Given the description of an element on the screen output the (x, y) to click on. 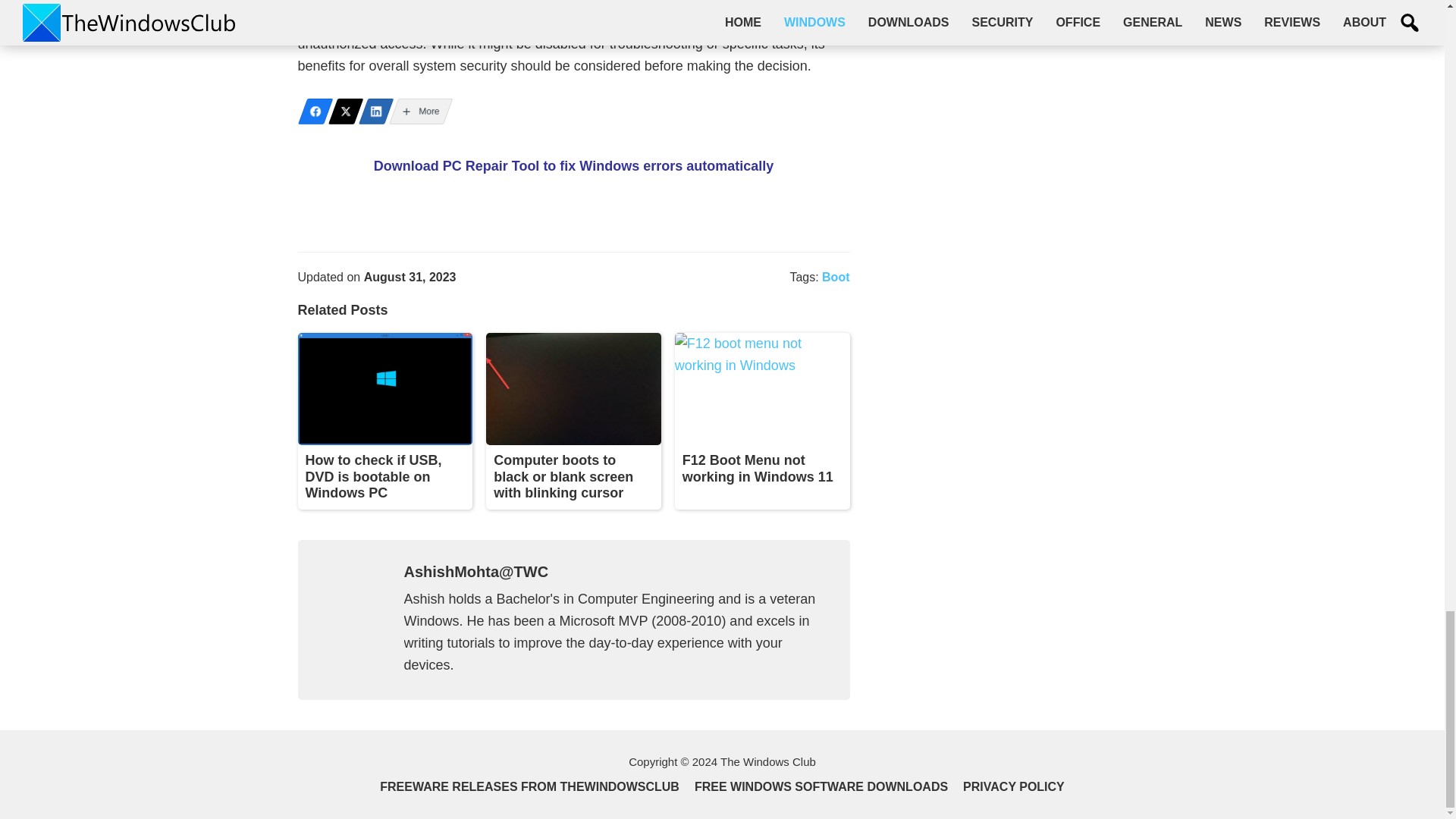
How to check if USB, DVD is bootable on Windows PC (372, 476)
Boot (835, 277)
More (415, 111)
F12 Boot Menu not working in Windows 11 (757, 468)
Computer boots to black or blank screen with blinking cursor (563, 476)
Download PC Repair Tool to fix Windows errors automatically (574, 165)
